Given the description of an element on the screen output the (x, y) to click on. 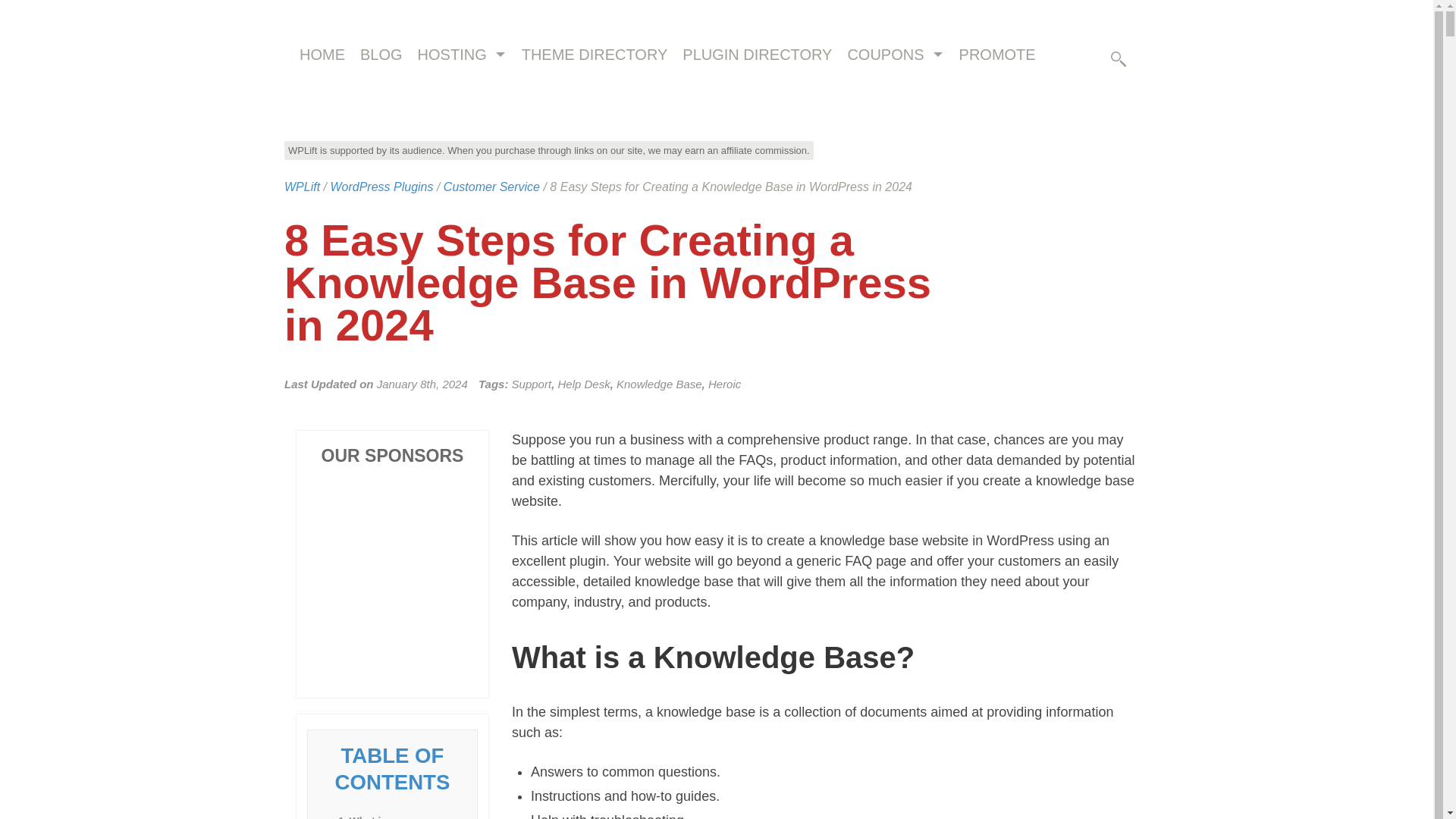
Support (531, 383)
PROMOTE (997, 54)
Blog (381, 54)
Coupons (885, 54)
Plugin Directory (756, 54)
WPLift (301, 186)
BLOG (381, 54)
Heroic (724, 383)
What is a Knowledge Base? (392, 816)
Theme Directory (594, 54)
